Given the description of an element on the screen output the (x, y) to click on. 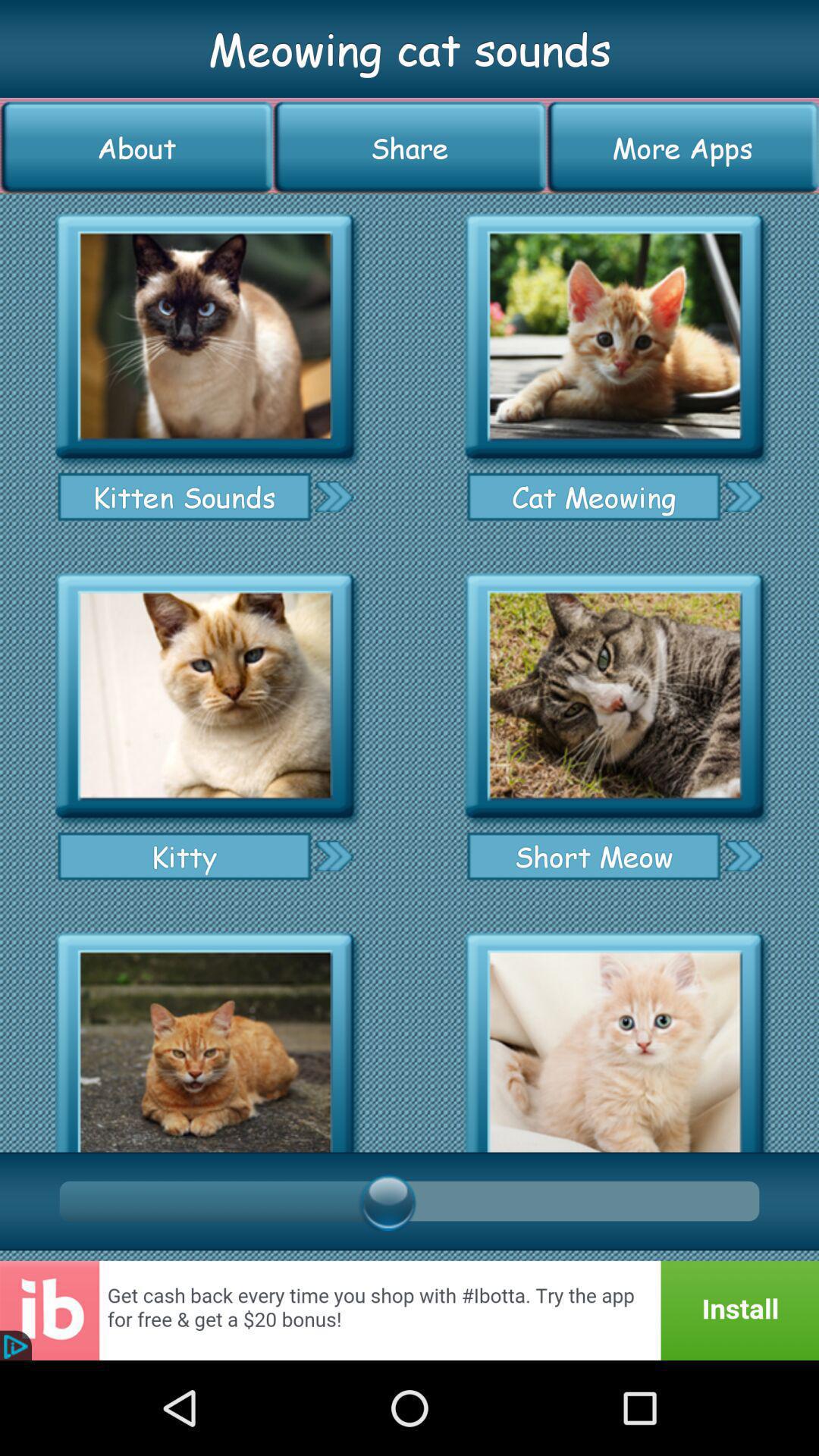
flip to the about (136, 147)
